Given the description of an element on the screen output the (x, y) to click on. 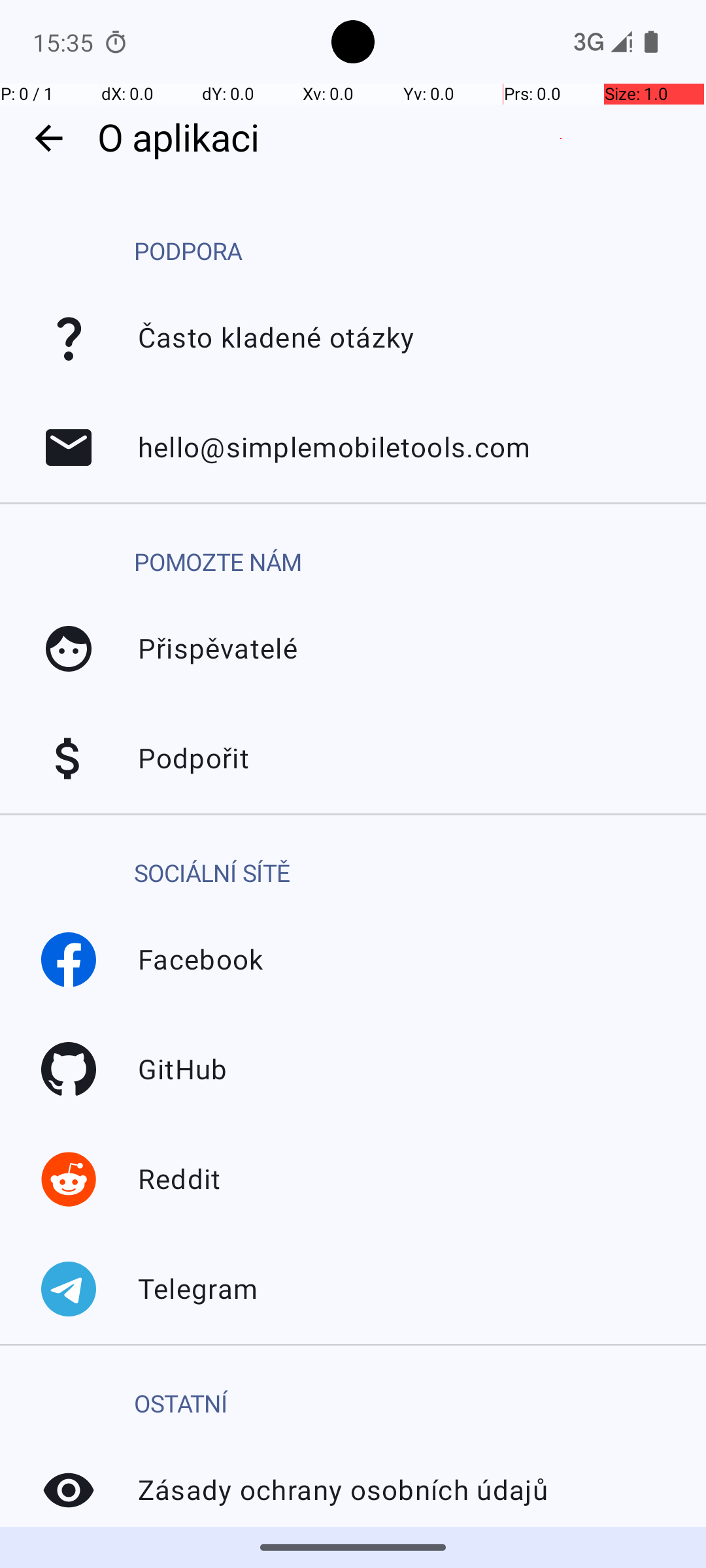
PODPORA Element type: android.widget.TextView (187, 251)
POMOZTE NÁM Element type: android.widget.TextView (217, 562)
SOCIÁLNÍ SÍTĚ Element type: android.widget.TextView (211, 873)
OSTATNÍ Element type: android.widget.TextView (181, 1404)
O aplikaci Element type: android.widget.TextView (394, 138)
Často kladené otázky Element type: android.view.View (68, 337)
Přispěvatelé Element type: android.view.View (68, 648)
Podpořit Element type: android.view.View (68, 758)
Zásady ochrany osobních údajů Element type: android.view.View (68, 1489)
Zpět Element type: android.view.View (48, 137)
